Given the description of an element on the screen output the (x, y) to click on. 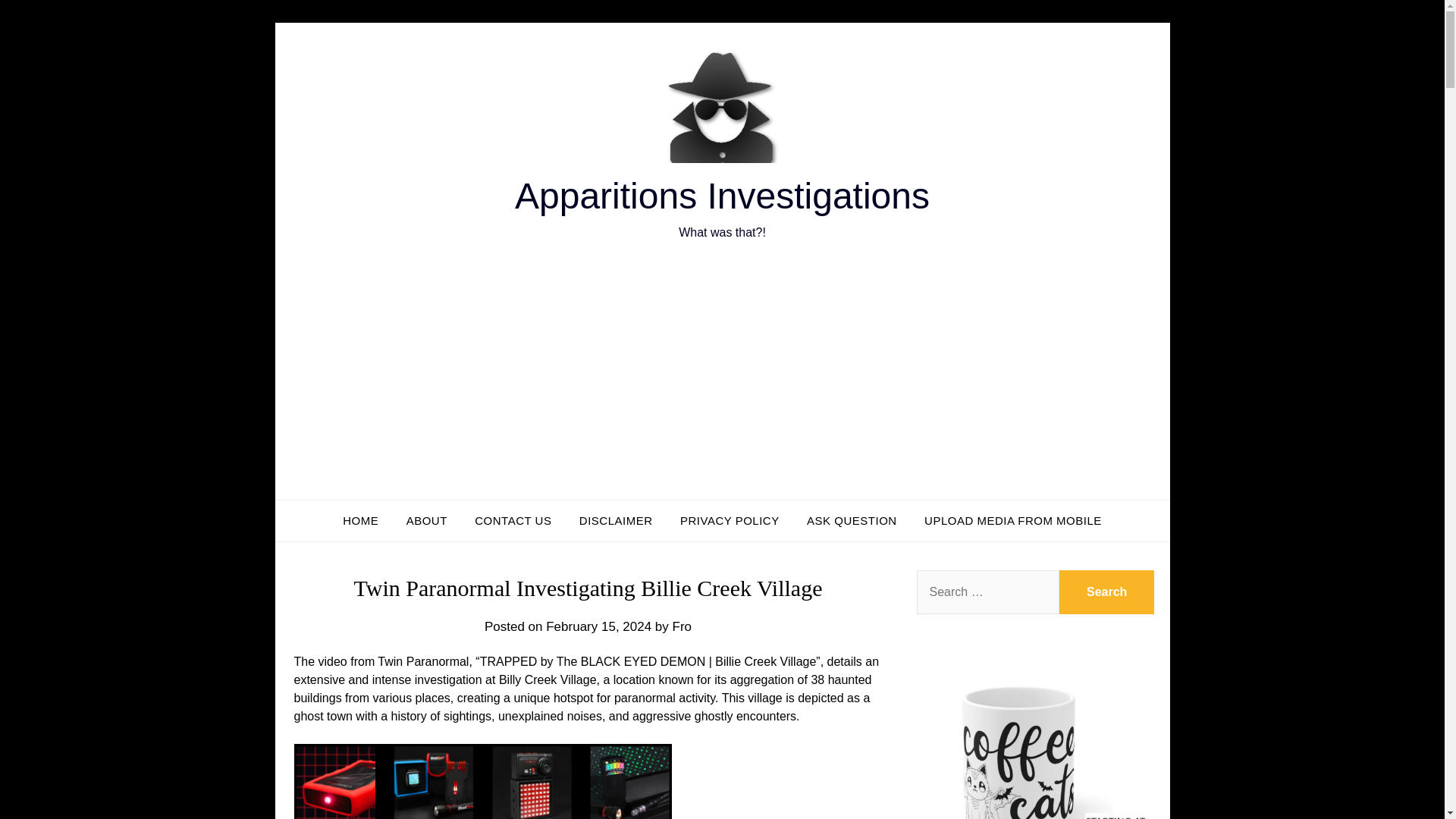
HOME (360, 520)
DISCLAIMER (616, 520)
PRIVACY POLICY (730, 520)
UPLOAD MEDIA FROM MOBILE (1012, 520)
Fro (682, 626)
February 15, 2024 (598, 626)
Search (1106, 592)
CONTACT US (513, 520)
Search (1106, 592)
